Given the description of an element on the screen output the (x, y) to click on. 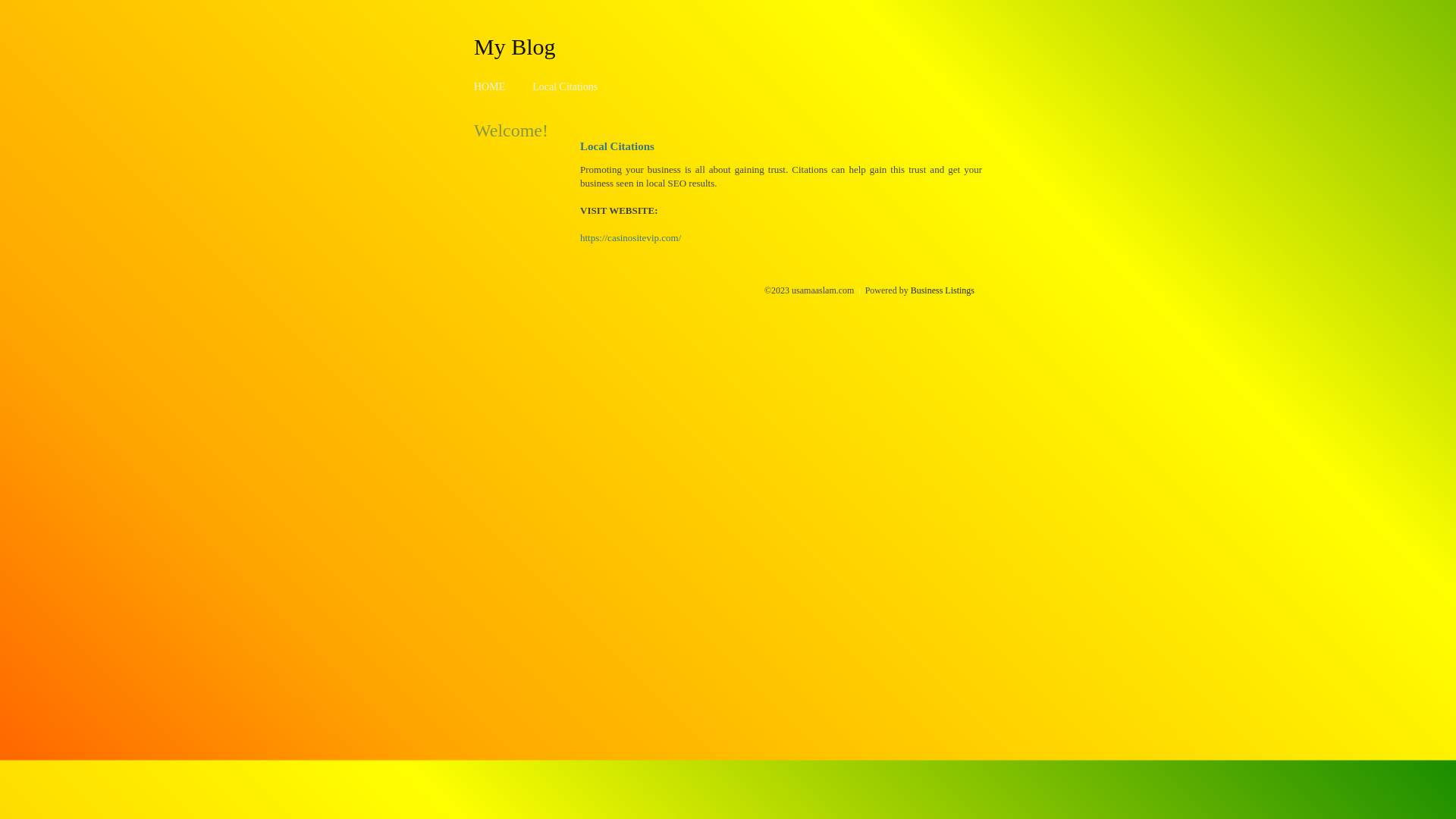
https://casinositevip.com/ Element type: text (630, 237)
Business Listings Element type: text (942, 290)
Local Citations Element type: text (564, 86)
My Blog Element type: text (514, 46)
HOME Element type: text (489, 86)
